Given the description of an element on the screen output the (x, y) to click on. 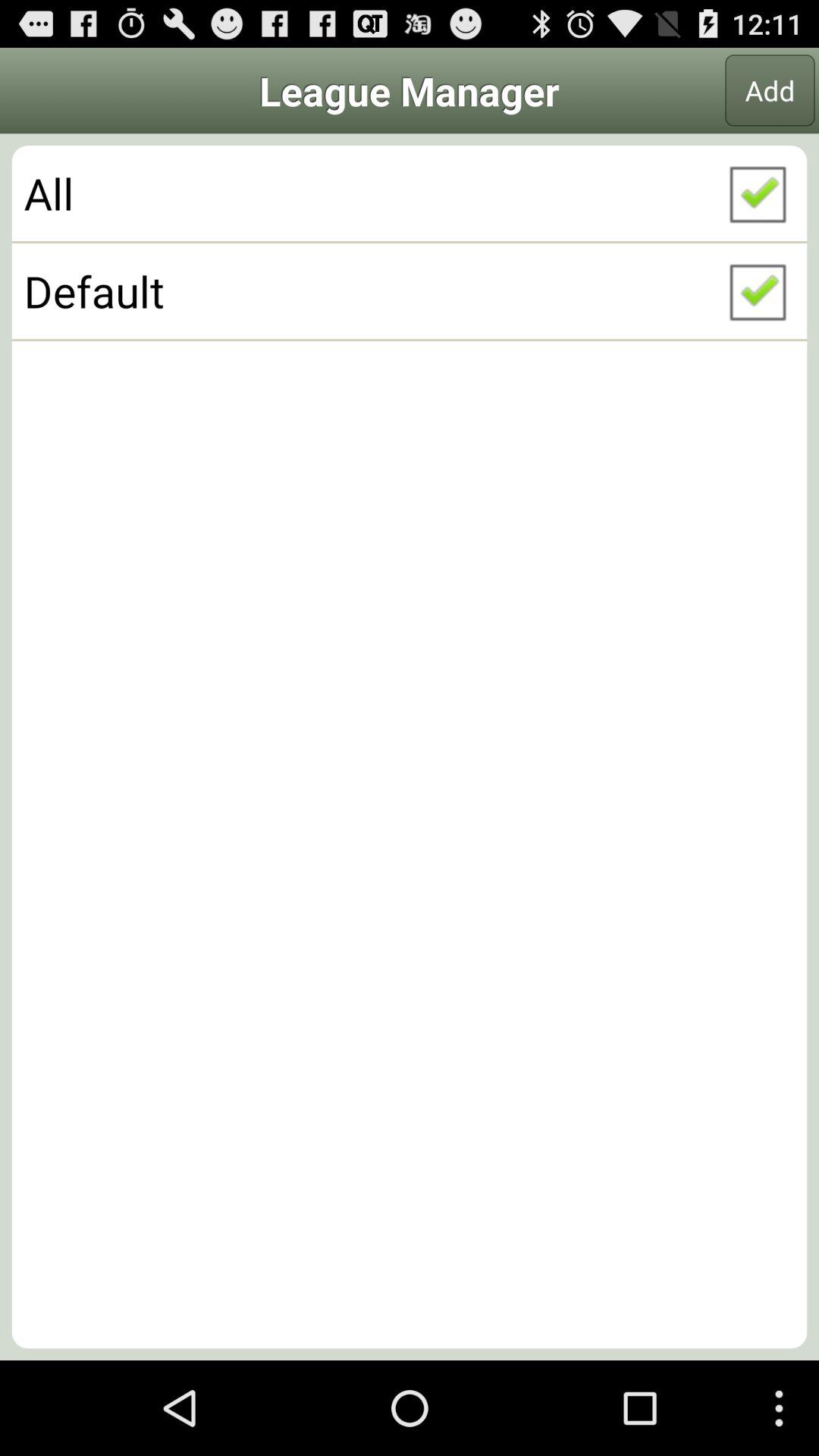
scroll until all icon (409, 193)
